Given the description of an element on the screen output the (x, y) to click on. 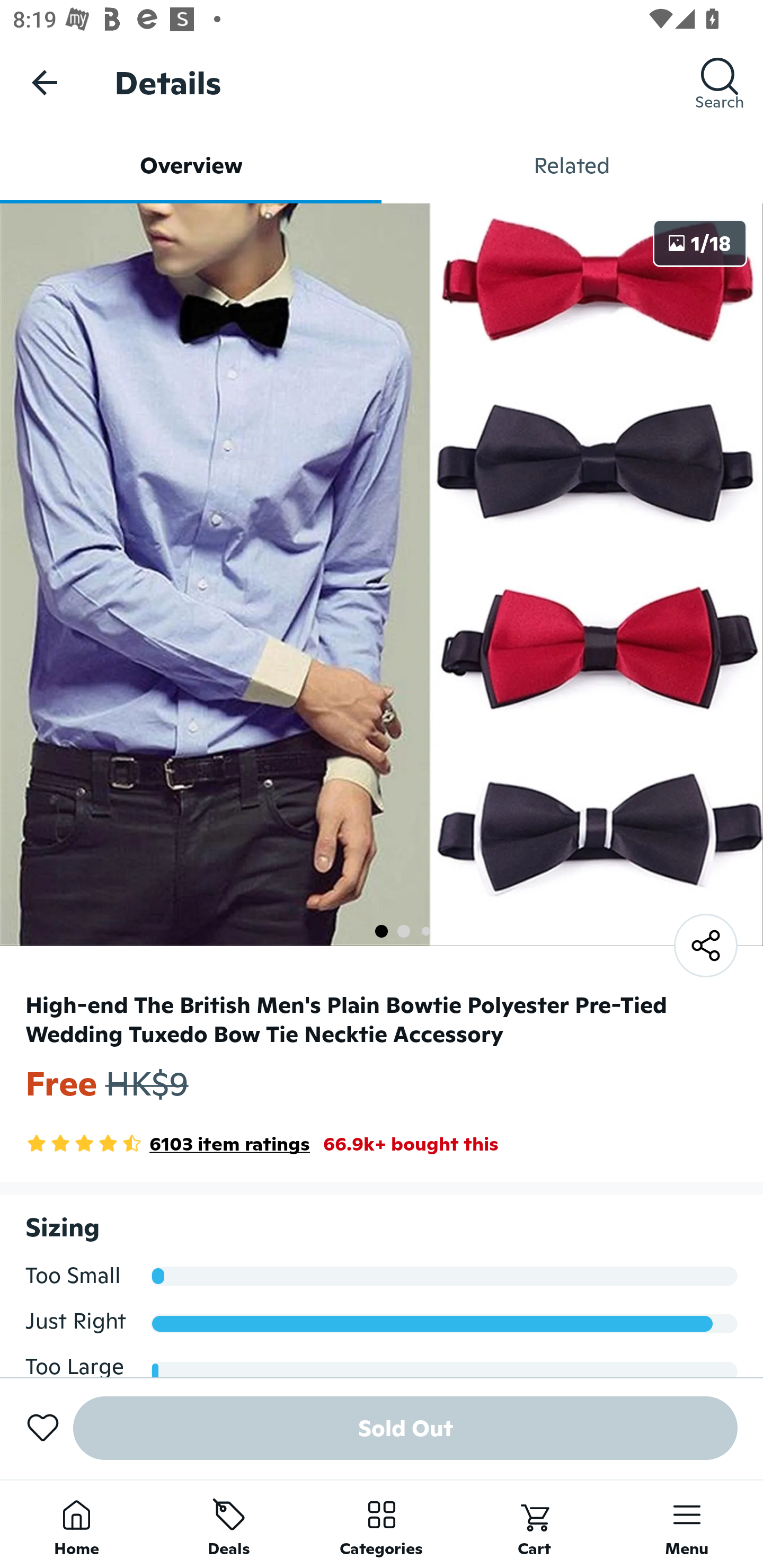
Navigate up (44, 82)
Search (719, 82)
Related (572, 165)
1/18 (700, 242)
4.4 Star Rating 6103 item ratings (167, 1143)
Sold Out (405, 1428)
Home (76, 1523)
Deals (228, 1523)
Categories (381, 1523)
Cart (533, 1523)
Menu (686, 1523)
